Given the description of an element on the screen output the (x, y) to click on. 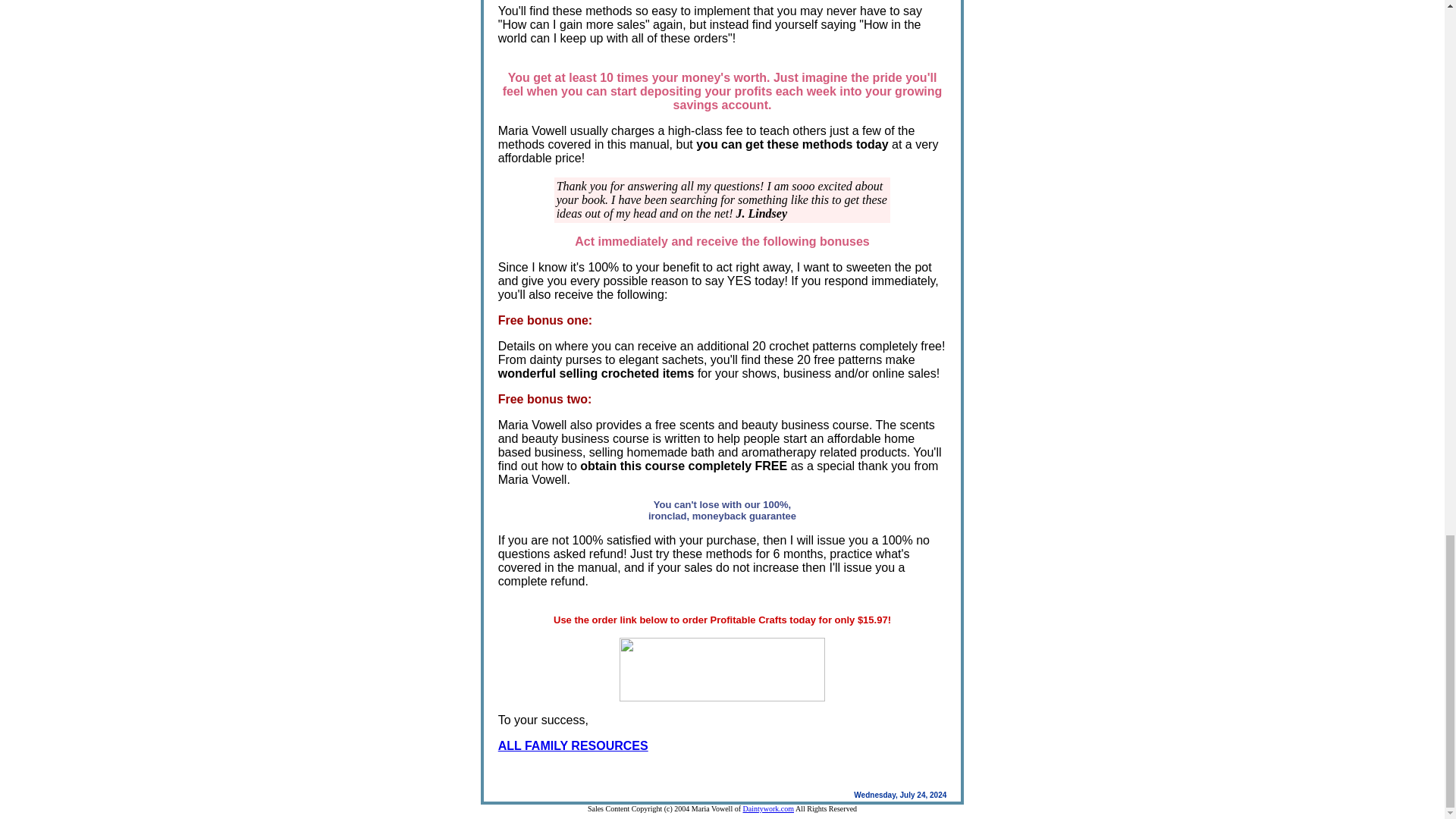
Daintywork.com (768, 808)
ALL FAMILY RESOURCES (572, 745)
